Given the description of an element on the screen output the (x, y) to click on. 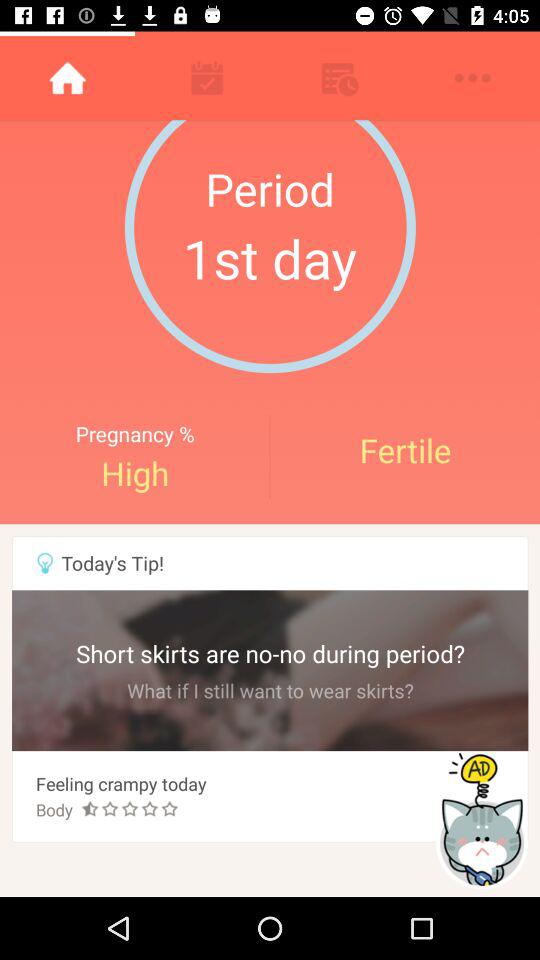
view advertisement (484, 820)
